Given the description of an element on the screen output the (x, y) to click on. 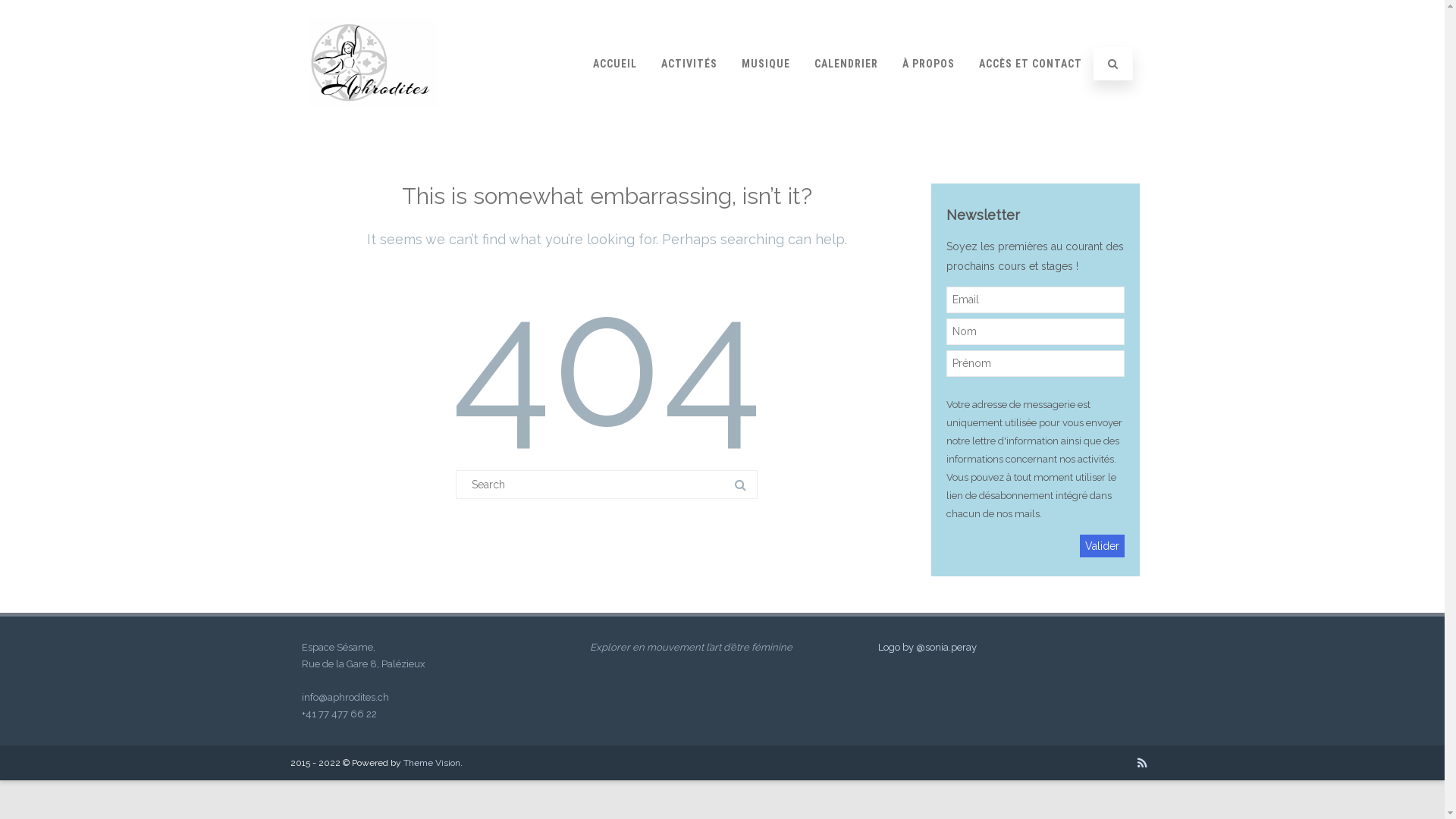
RSS Element type: hover (1141, 762)
MUSIQUE Element type: text (764, 63)
Valider Element type: text (1101, 545)
Logo by @sonia.peray Element type: text (927, 646)
Aphrodites Element type: hover (370, 121)
Search for: Element type: hover (606, 484)
Theme Vision Element type: text (431, 762)
ACCUEIL Element type: text (613, 63)
CALENDRIER Element type: text (845, 63)
